Given the description of an element on the screen output the (x, y) to click on. 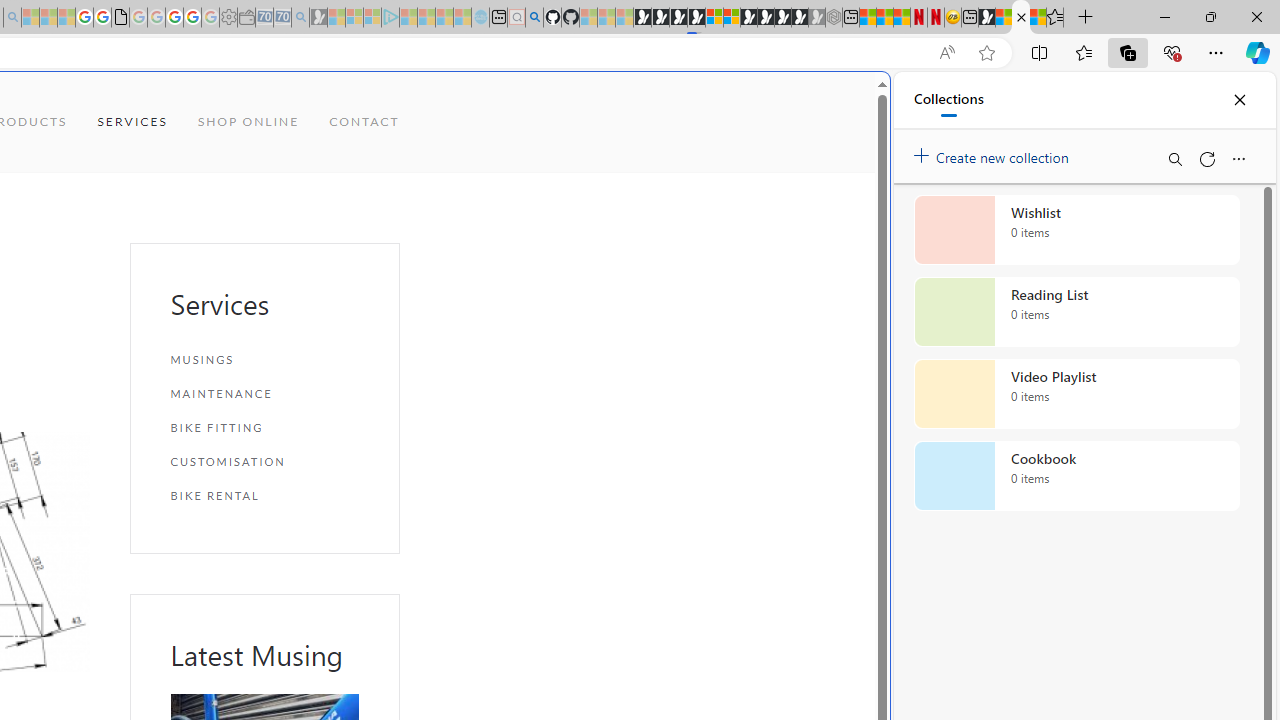
Cookbook collection, 0 items (1076, 475)
Tabs you've opened (276, 265)
CONTACT (363, 122)
BIKE FITTING (264, 426)
SHOP ONLINE (247, 122)
